Given the description of an element on the screen output the (x, y) to click on. 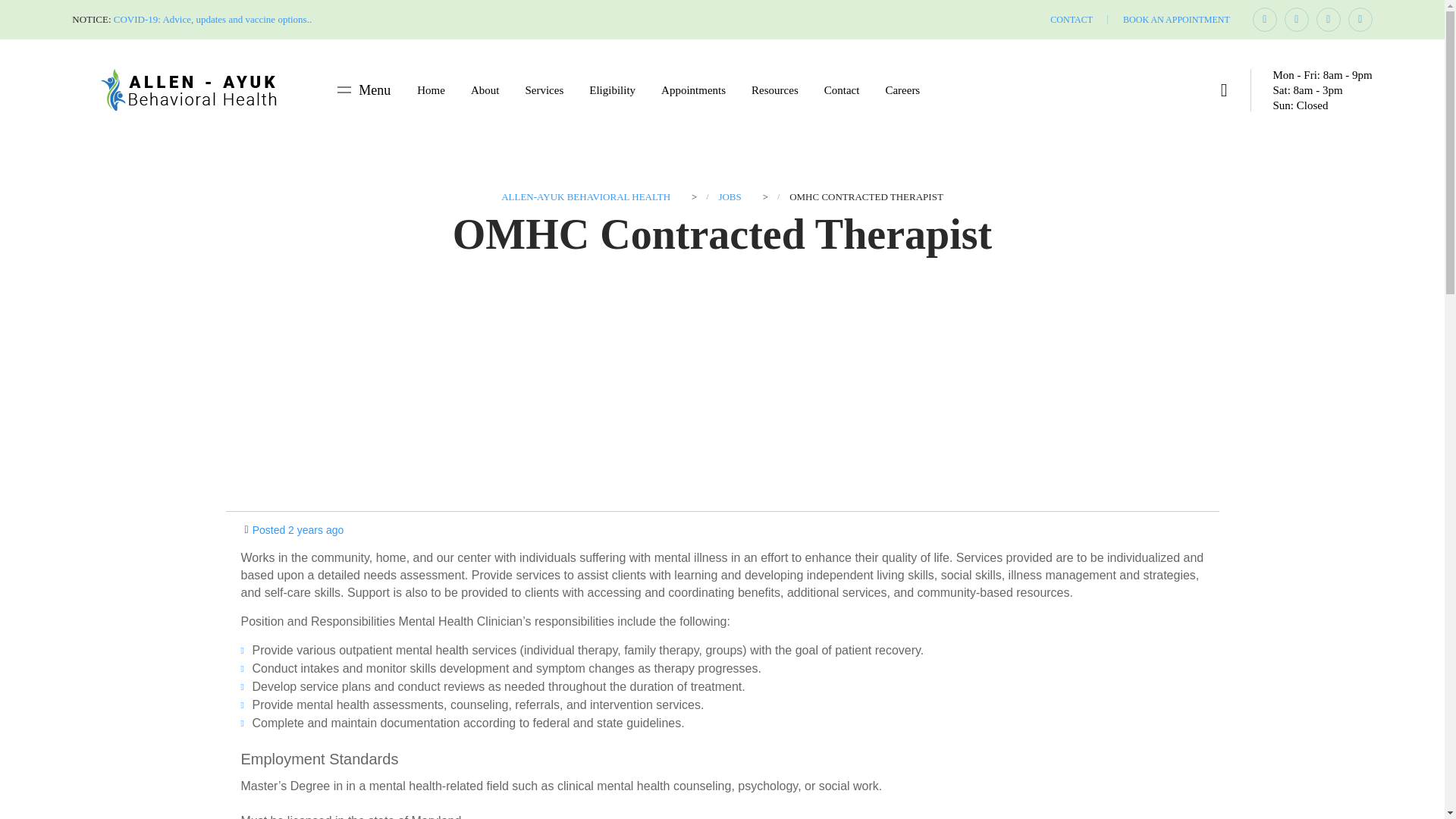
BOOK AN APPOINTMENT (1176, 19)
Appointments (693, 89)
Eligibility (611, 89)
Menu (363, 90)
COVID-19: Advice, updates and vaccine options.. (212, 19)
Services (1321, 90)
Go to Allen-Ayuk Behavioral Health. (543, 89)
Resources (584, 196)
Go to Jobs. (774, 89)
